Given the description of an element on the screen output the (x, y) to click on. 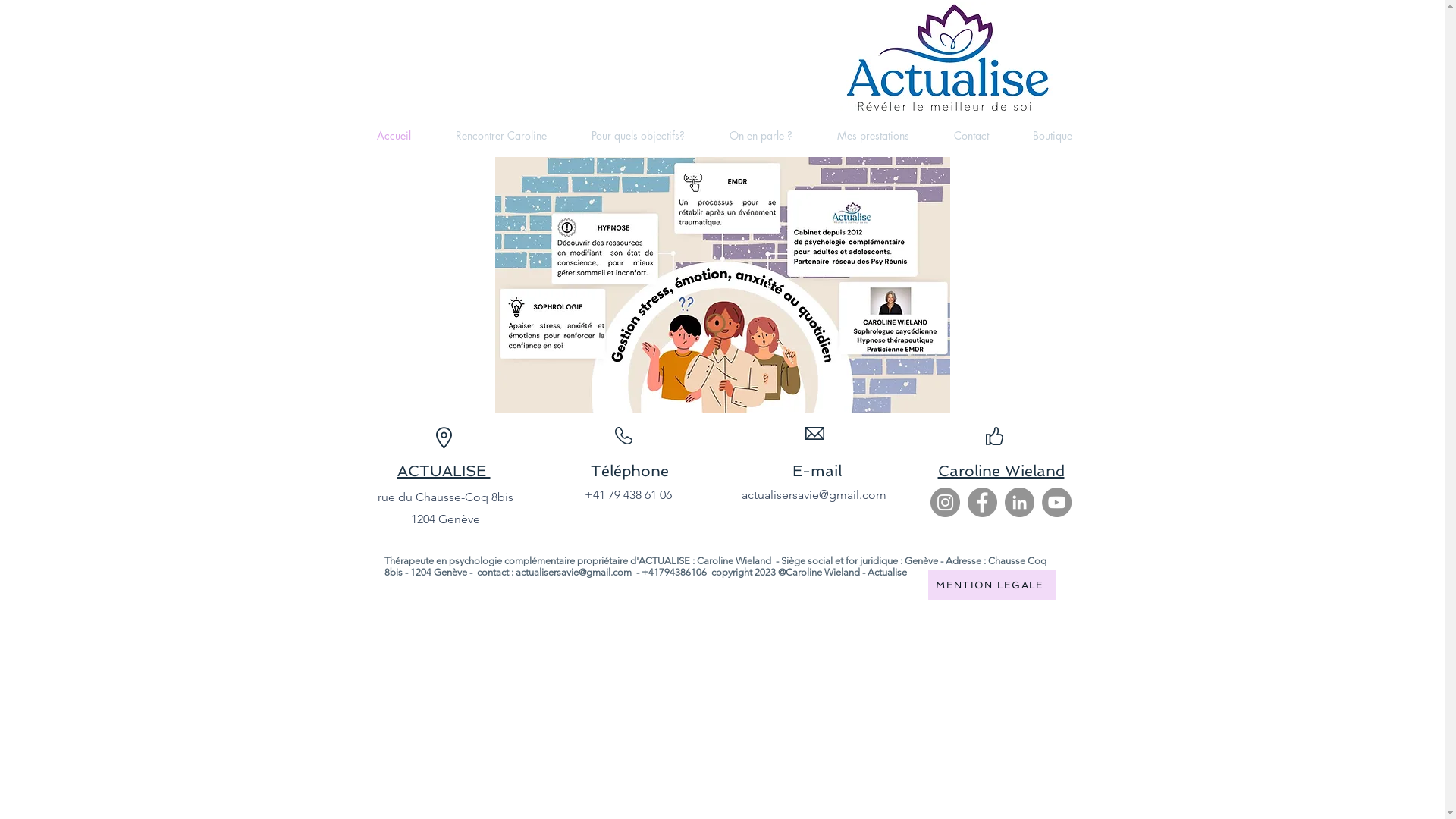
Pour quels objectifs? Element type: text (637, 135)
Accueil Element type: text (393, 135)
Mes prestations Element type: text (872, 135)
On en parle ? Element type: text (760, 135)
actualisersavie@gmail.com Element type: text (813, 494)
Contact Element type: text (970, 135)
MENTION LEGALE Element type: text (991, 584)
Formations Element type: hover (947, 58)
+41 79 438 61 06 Element type: text (627, 494)
Rencontrer Caroline Element type: text (501, 135)
actualisersavie@gmail.com Element type: text (573, 571)
Boutique Element type: text (1051, 135)
ACTUALISE  Element type: text (443, 470)
Caroline Wieland Element type: text (1000, 470)
Prenez soin de vous! Element type: hover (721, 284)
